Given the description of an element on the screen output the (x, y) to click on. 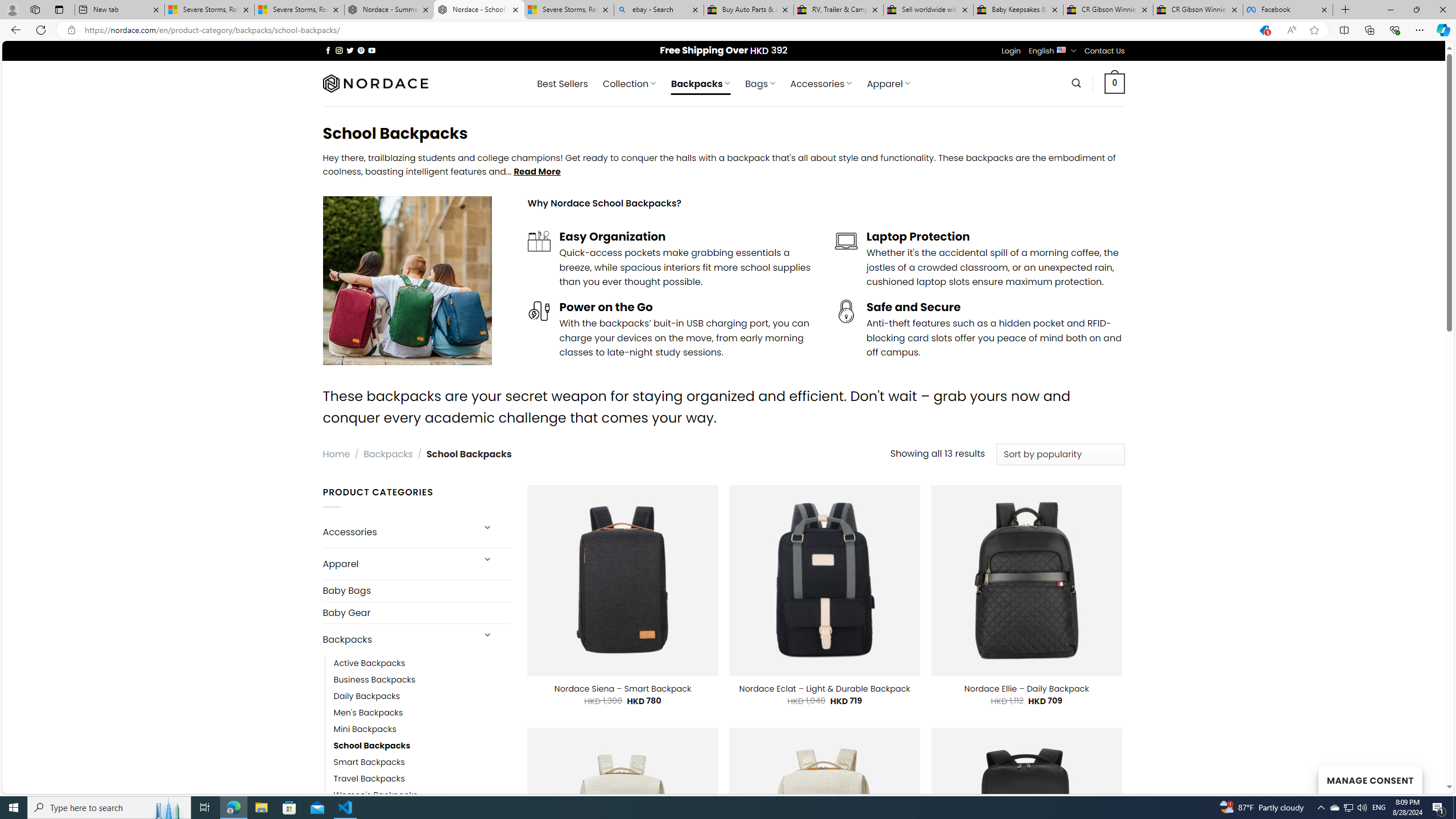
Shop order (1060, 454)
Read More (536, 171)
School Backpacks (422, 746)
Daily Backpacks (422, 696)
School Backpacks (371, 746)
